Given the description of an element on the screen output the (x, y) to click on. 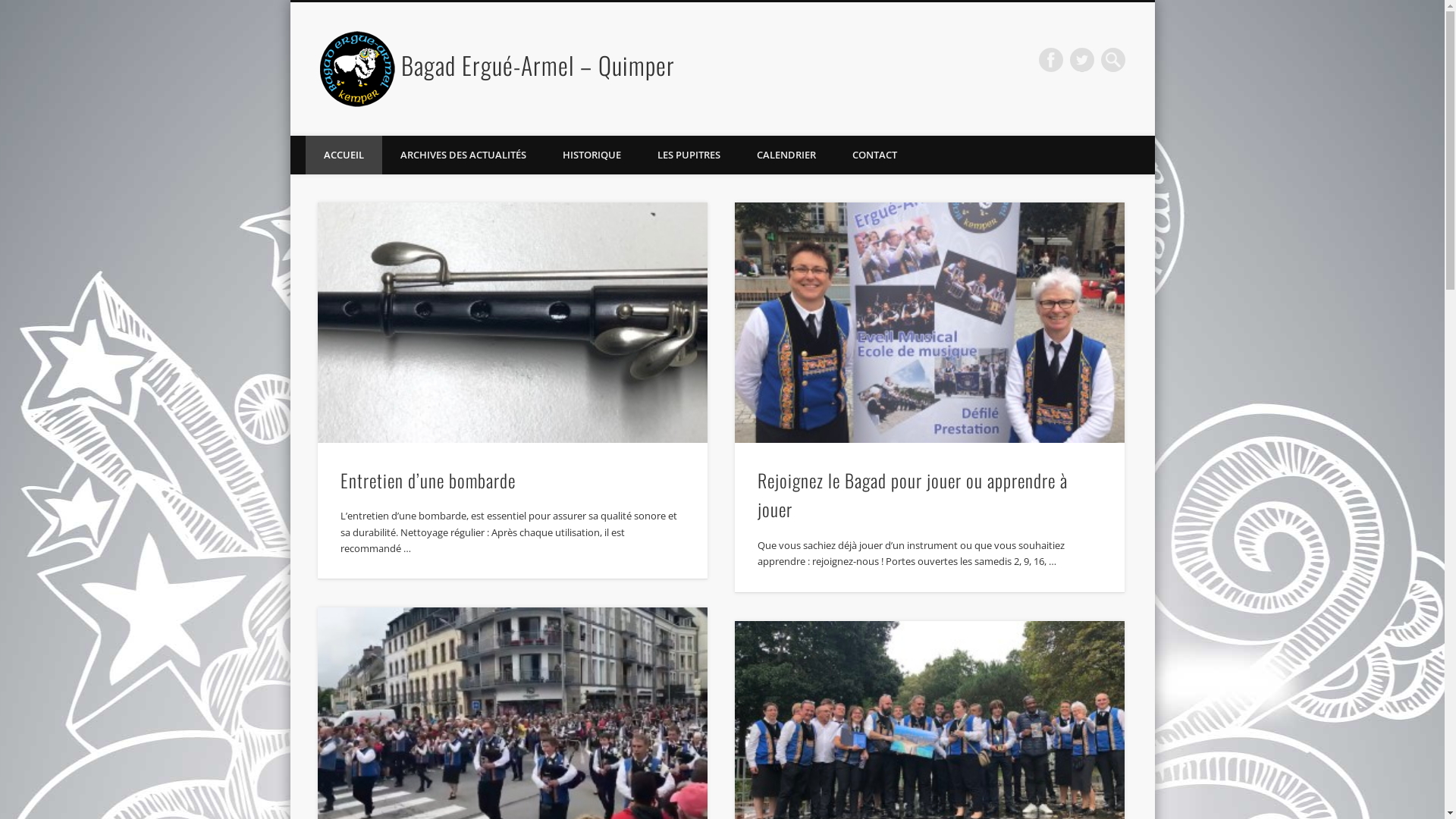
Facebook Element type: text (1050, 59)
LES PUPITRES Element type: text (687, 154)
HISTORIQUE Element type: text (591, 154)
Search Element type: text (11, 9)
CALENDRIER Element type: text (786, 154)
Twitter Element type: text (1082, 59)
CONTACT Element type: text (874, 154)
ACCUEIL Element type: text (342, 154)
